Given the description of an element on the screen output the (x, y) to click on. 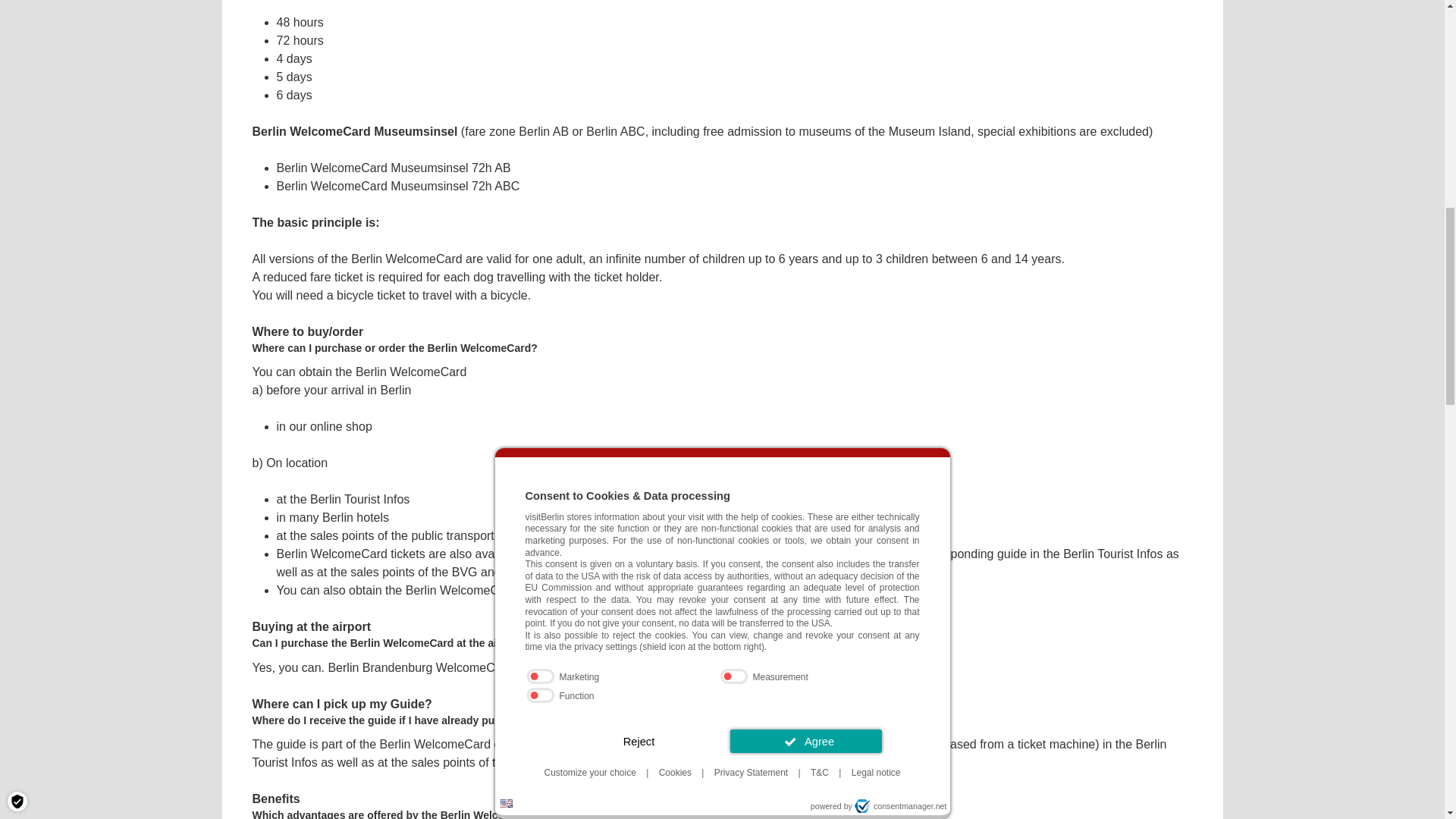
sales points (342, 535)
hotels (372, 517)
Berlin Tourist Infos (359, 499)
here (838, 667)
online shop (341, 426)
